Given the description of an element on the screen output the (x, y) to click on. 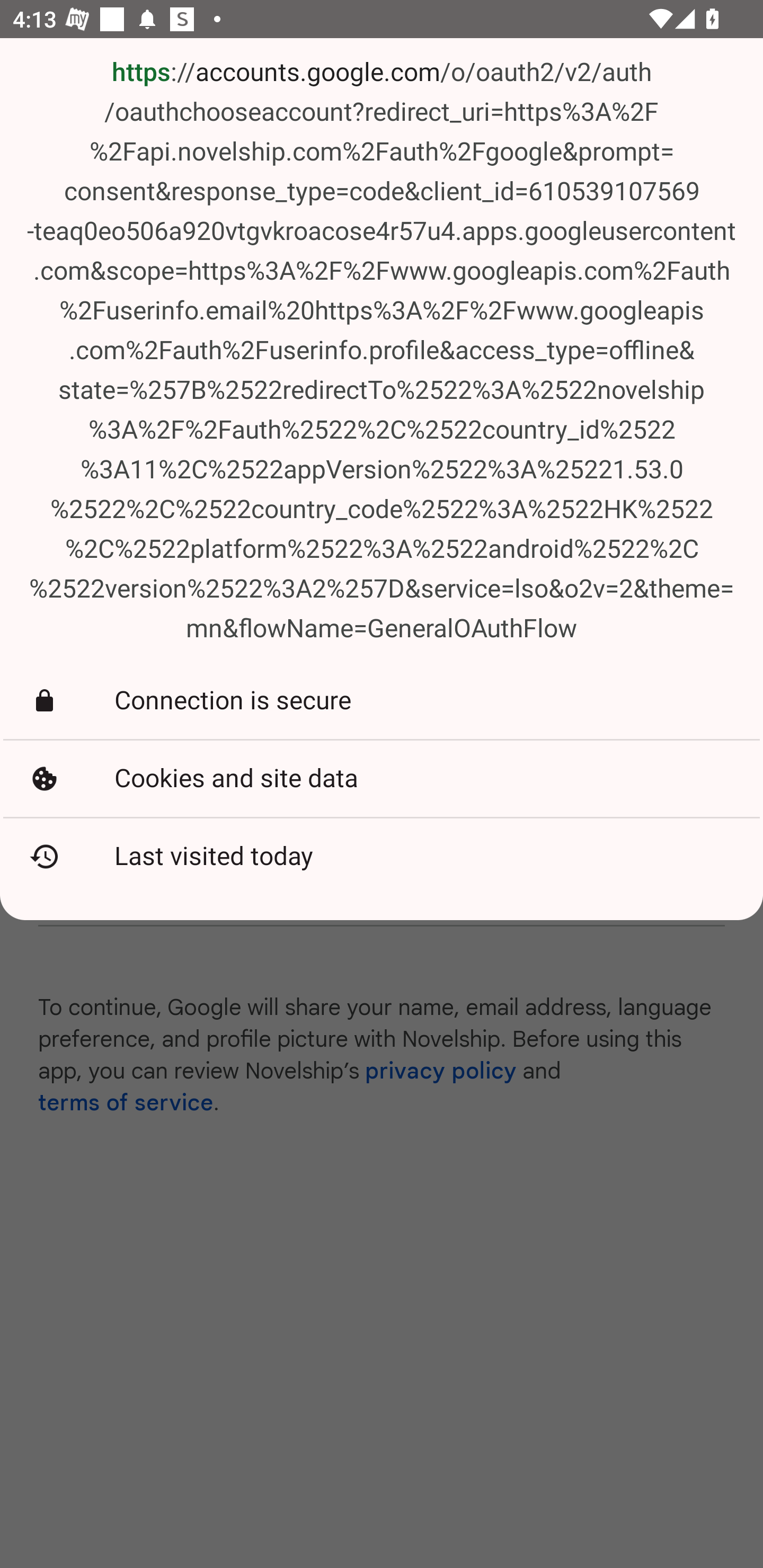
Connection is secure (381, 700)
Cookies and site data (381, 778)
Last visited today (381, 856)
